Given the description of an element on the screen output the (x, y) to click on. 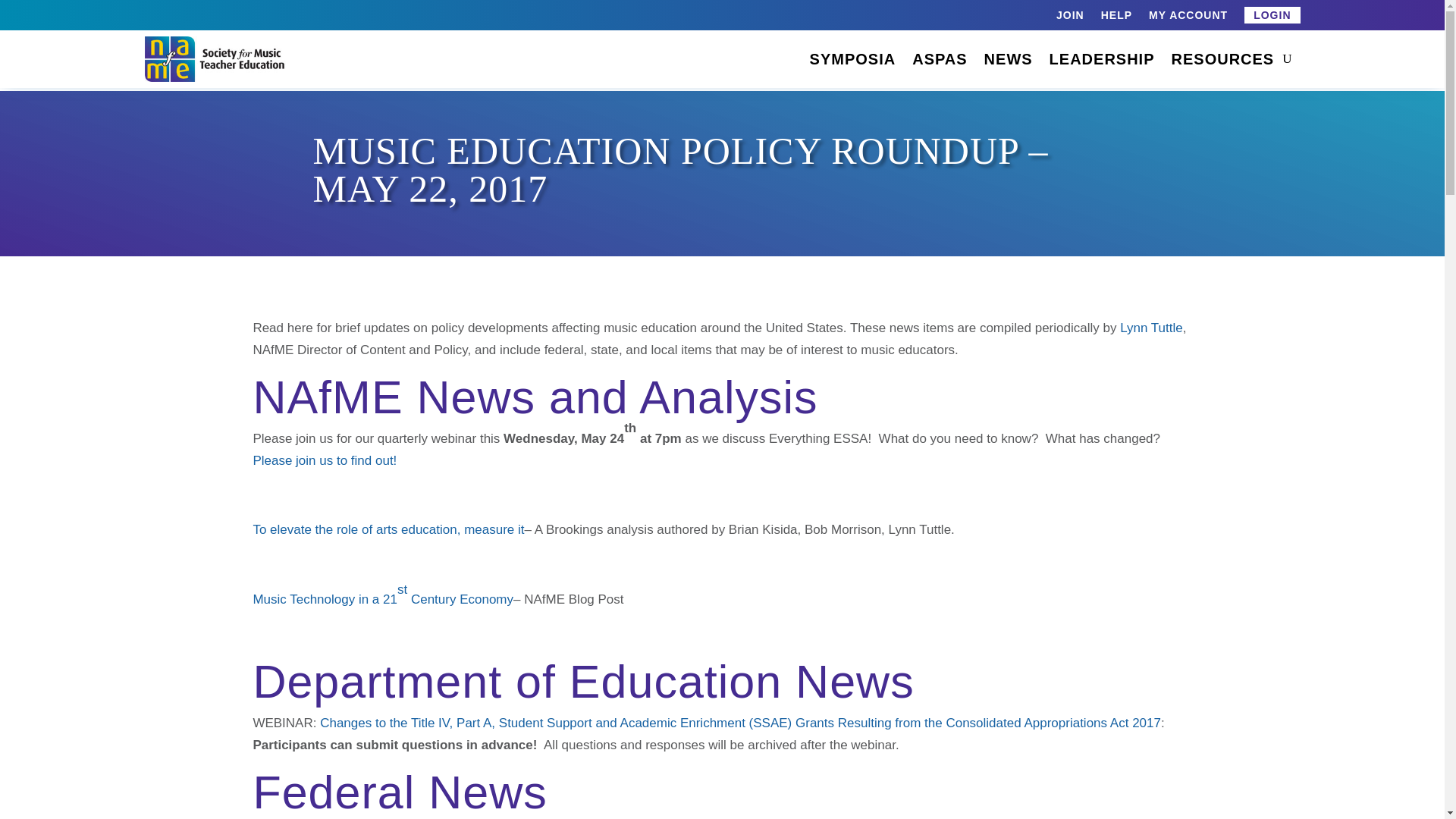
RESOURCES (1223, 58)
HELP (1116, 17)
Music Technology in a 21st Century Economy (382, 594)
Lynn Tuttle (1150, 327)
Please join us to find out! (323, 460)
MY ACCOUNT (1187, 17)
JOIN (1070, 17)
LEADERSHIP (1101, 58)
To elevate the role of arts education, measure it (387, 529)
ASPAS (939, 58)
LOGIN (1272, 14)
SYMPOSIA (852, 58)
